Given the description of an element on the screen output the (x, y) to click on. 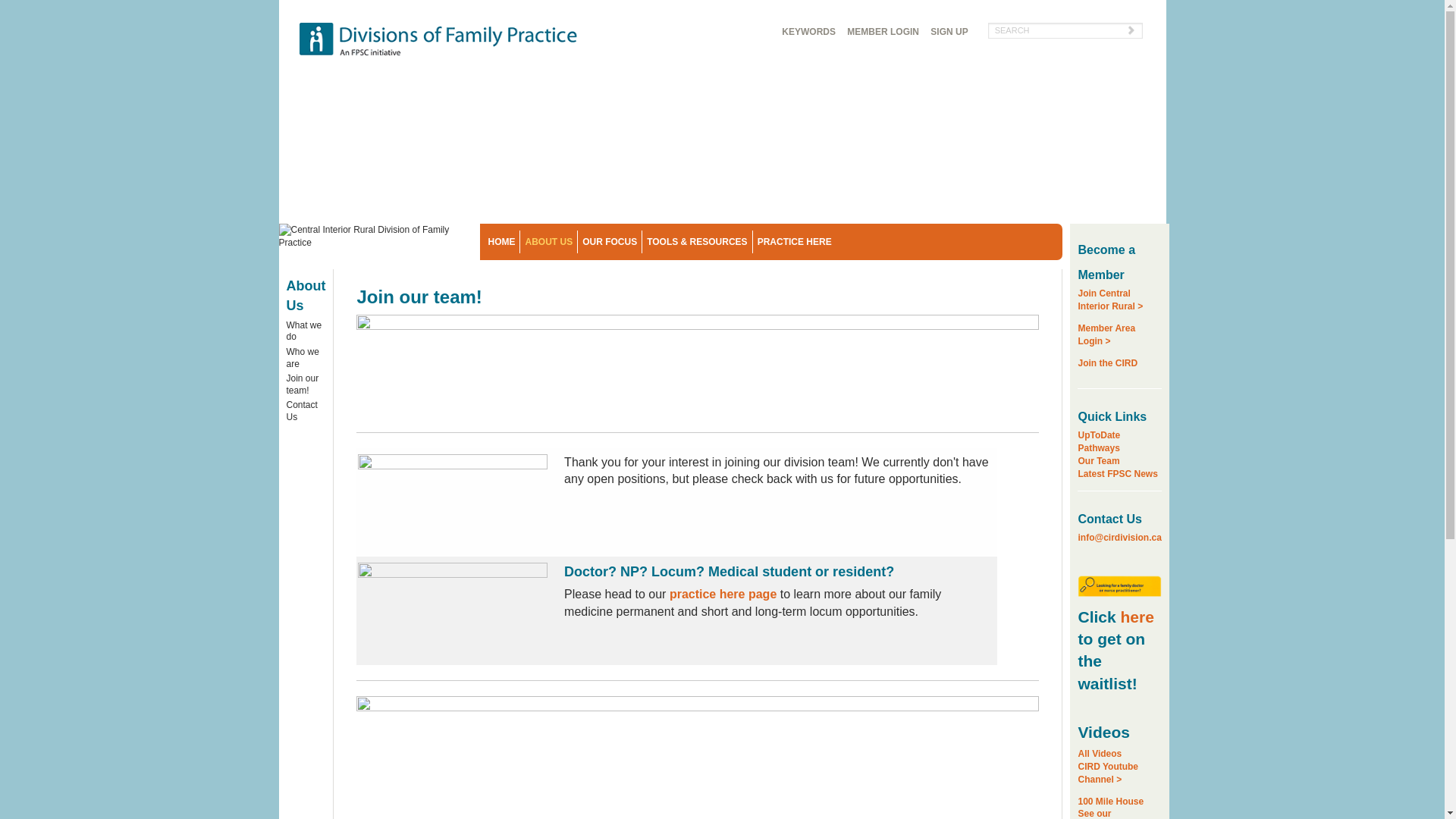
SIGN UP (949, 31)
Who we are (306, 359)
Latest FPSC News (1117, 473)
OUR FOCUS (610, 241)
HOME (1107, 766)
Skip to main content (499, 241)
Join our team! (959, 46)
Join the CIRD (306, 386)
